Given the description of an element on the screen output the (x, y) to click on. 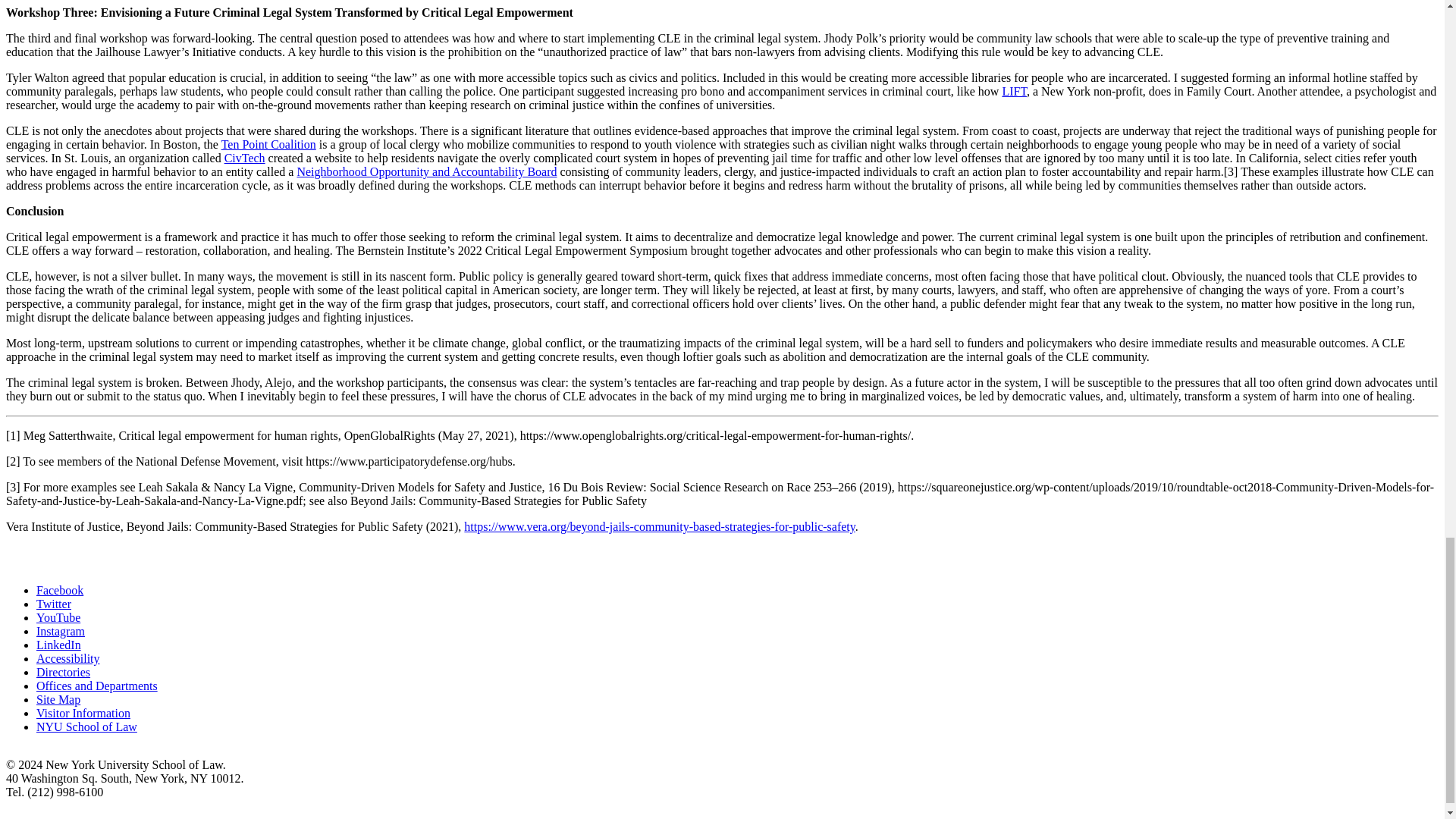
Site Map (58, 698)
CivTech (244, 157)
Ten Point Coalition (268, 144)
Offices and Departments (96, 685)
LinkedIn (58, 644)
Twitter (53, 603)
YouTube (58, 617)
LIFT (1013, 91)
Neighborhood Opportunity and Accountability Board (426, 171)
Visitor Information (83, 712)
Accessibility (68, 658)
Instagram (60, 631)
Directories (63, 671)
NYU School of Law (86, 726)
Facebook (59, 590)
